Given the description of an element on the screen output the (x, y) to click on. 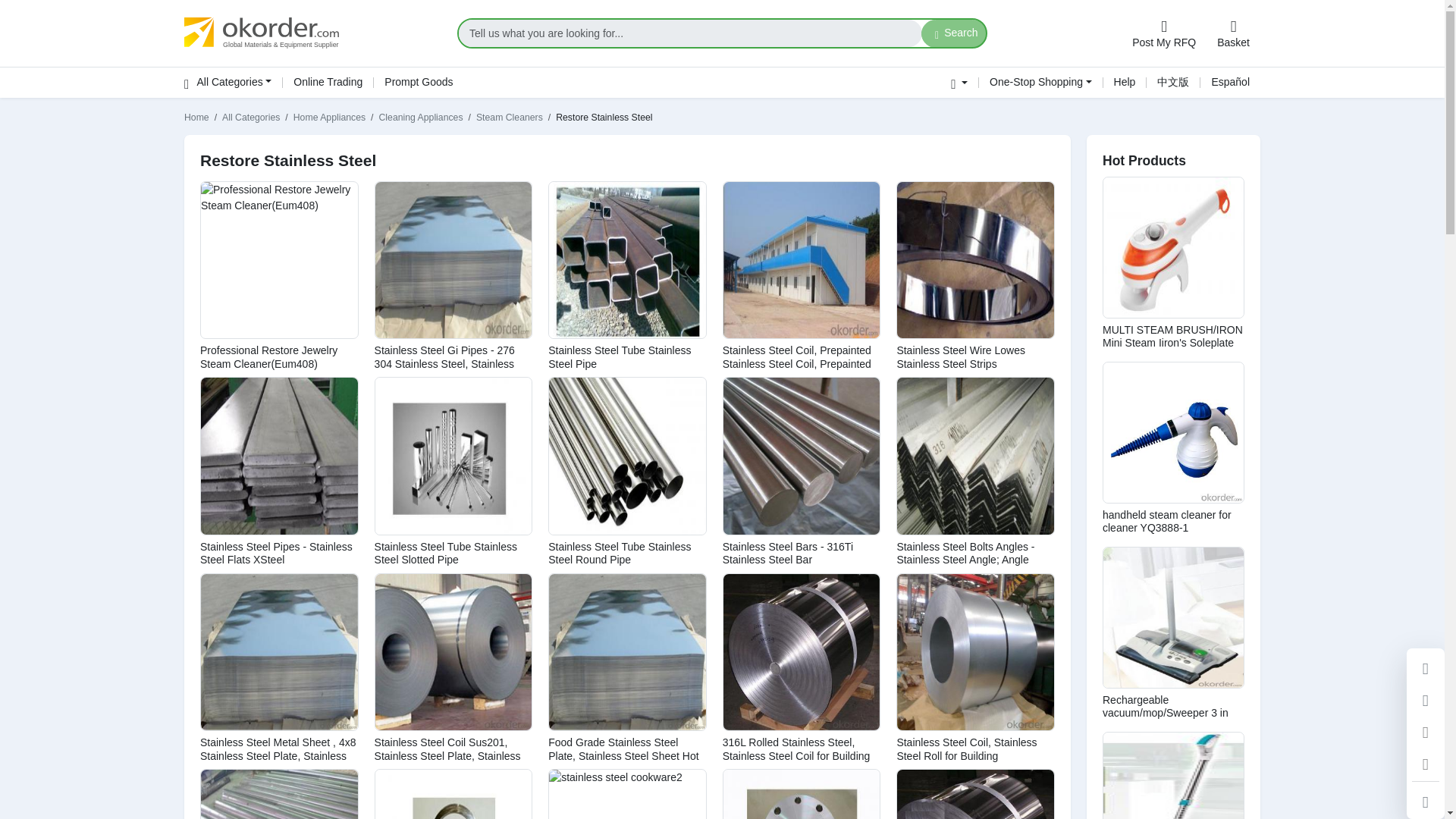
Post My RFQ (1164, 33)
Stainless Steel Tube Stainless Steel Pipe (619, 356)
OKorder Stainless Steel Tube Stainless Steel Round Pipe (627, 455)
Stainless Steel Wire Lowes Stainless Steel Strips (960, 356)
OKorder Stainless Steel Bars - 316Ti Stainless Steel Bar (801, 455)
OKorder Stainless Steel Tube Stainless Steel Slotted Pipe (453, 455)
Stainless Steel Bars - 316Ti Stainless Steel Bar (787, 553)
Stainless Steel Tube Stainless Steel Round Pipe (619, 553)
Search (954, 33)
Stainless Steel Pipes - Stainless Steel Flats XSteel (276, 553)
OKorder Stainless Steel Tube Stainless Steel Pipe (627, 260)
OKorder Stainless Steel Pipes - Stainless Steel Flats XSteel (279, 455)
www.okorder.com (312, 33)
